Given the description of an element on the screen output the (x, y) to click on. 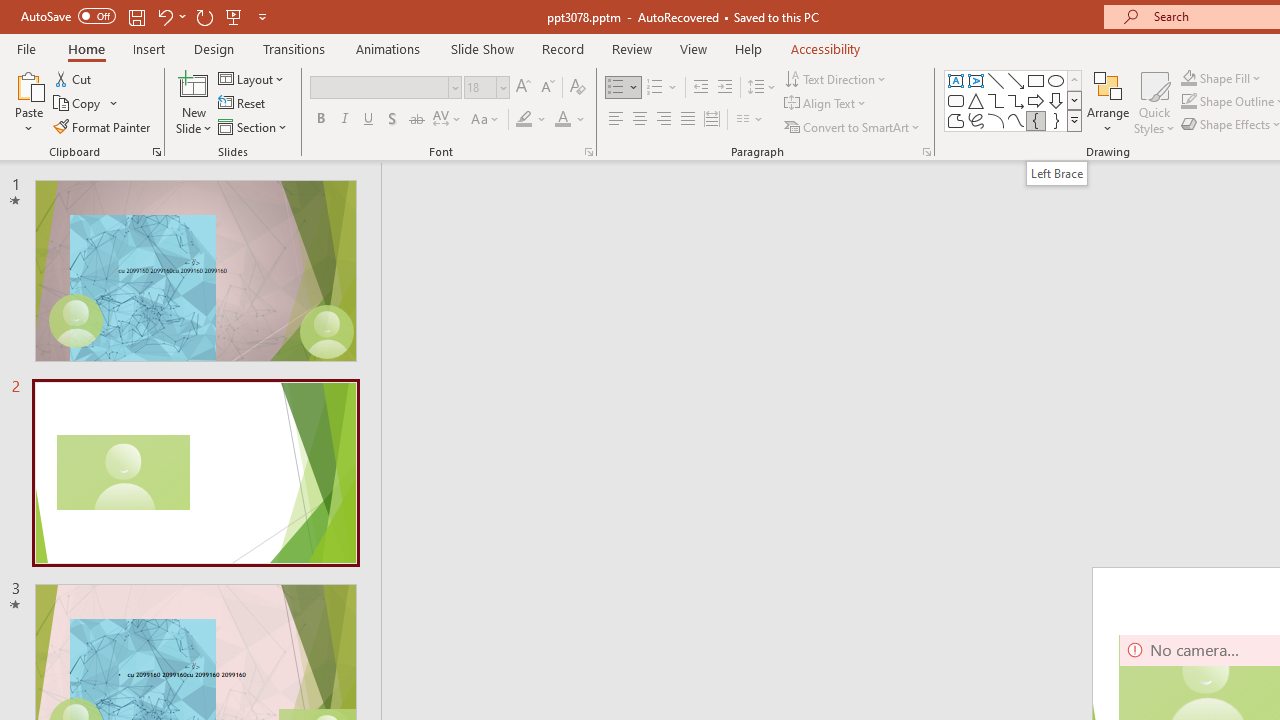
Character Spacing (447, 119)
Copy (85, 103)
Distributed (712, 119)
Curve (1016, 120)
Align Right (663, 119)
Arrange (1108, 102)
Change Case (486, 119)
Decrease Indent (700, 87)
Arc (995, 120)
Layout (252, 78)
AutomationID: ShapesInsertGallery (1014, 100)
Underline (369, 119)
Office Clipboard... (156, 151)
